Given the description of an element on the screen output the (x, y) to click on. 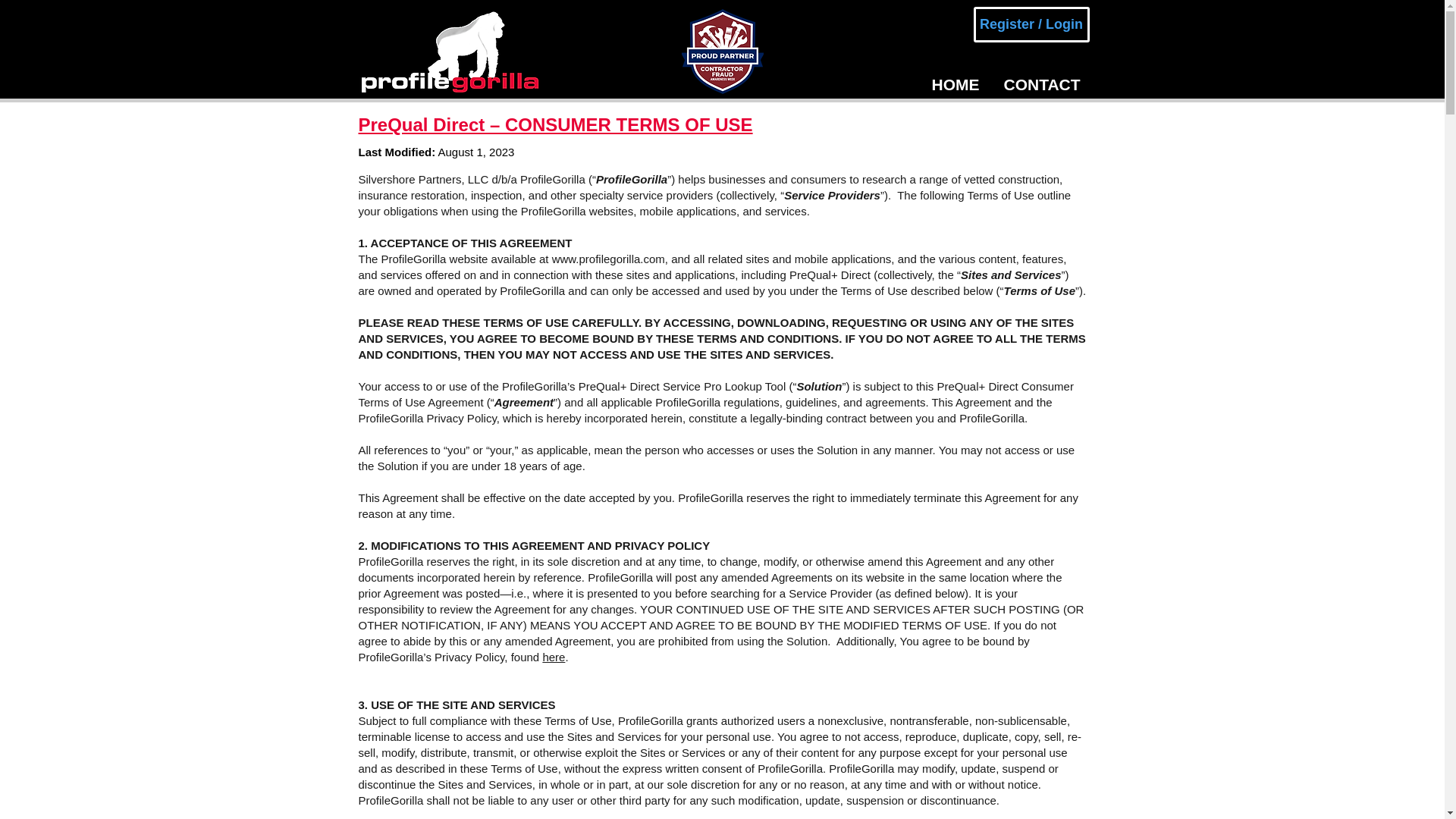
www.profilegorilla.com (608, 258)
CONTACT (1040, 84)
HOME (956, 84)
here (552, 656)
